Given the description of an element on the screen output the (x, y) to click on. 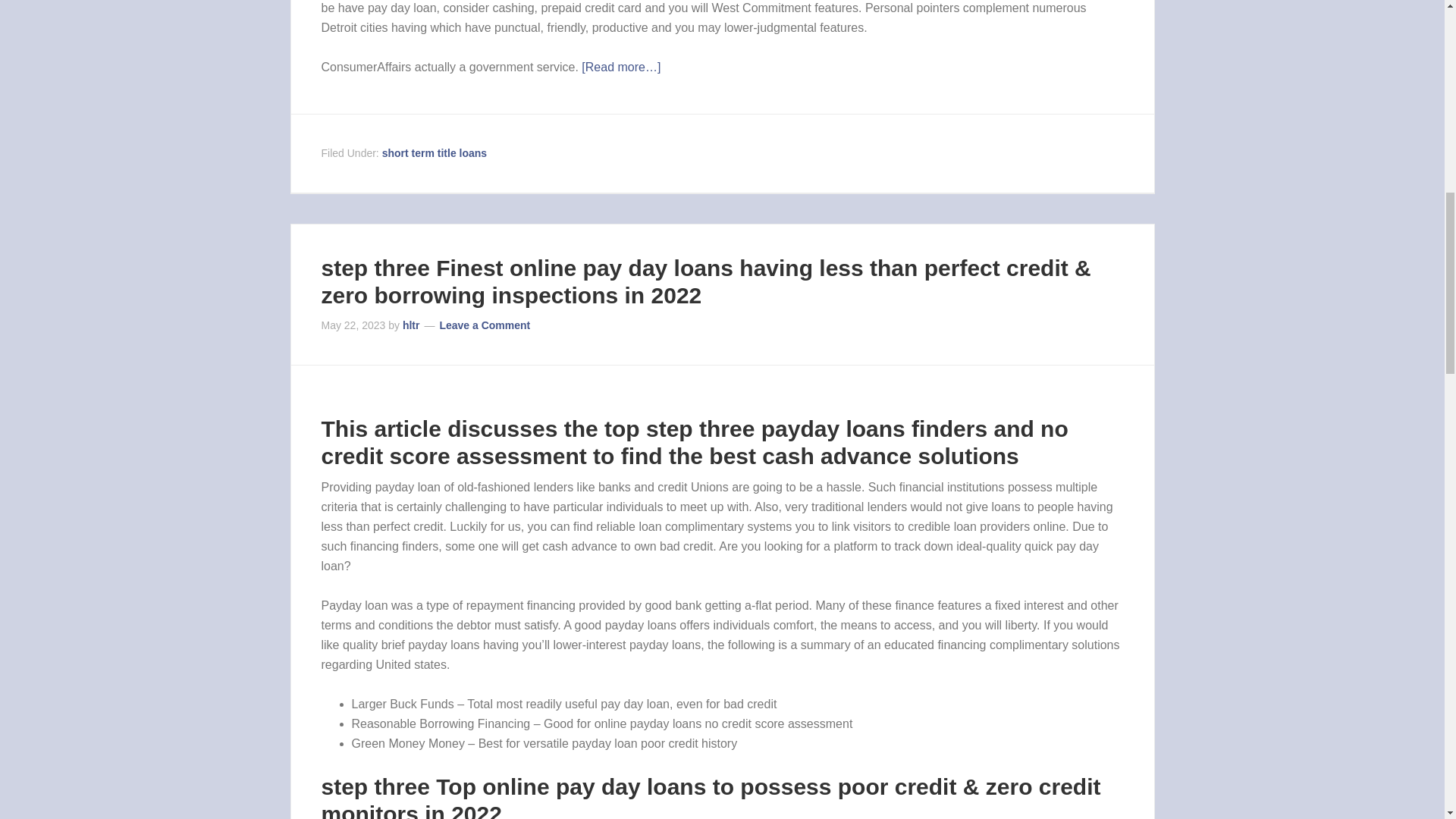
short term title loans (433, 152)
Leave a Comment (484, 325)
hltr (411, 325)
